Given the description of an element on the screen output the (x, y) to click on. 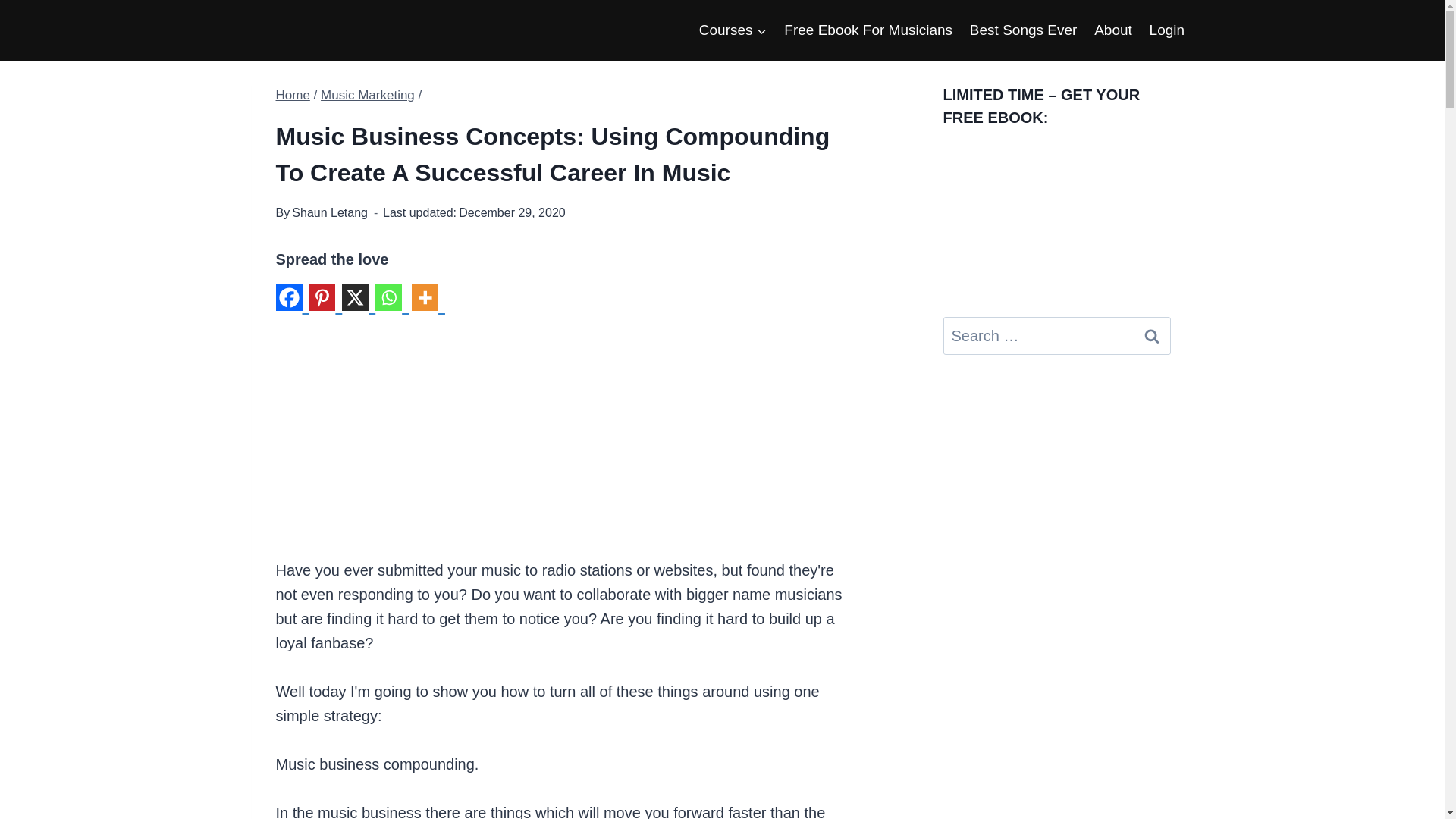
About (1113, 29)
More (428, 303)
Home (293, 94)
Music Marketing (367, 94)
Shaun Letang (330, 212)
Best Songs Ever (1022, 29)
Login (1166, 29)
Free Ebook For Musicians (868, 29)
Search (1151, 335)
